Given the description of an element on the screen output the (x, y) to click on. 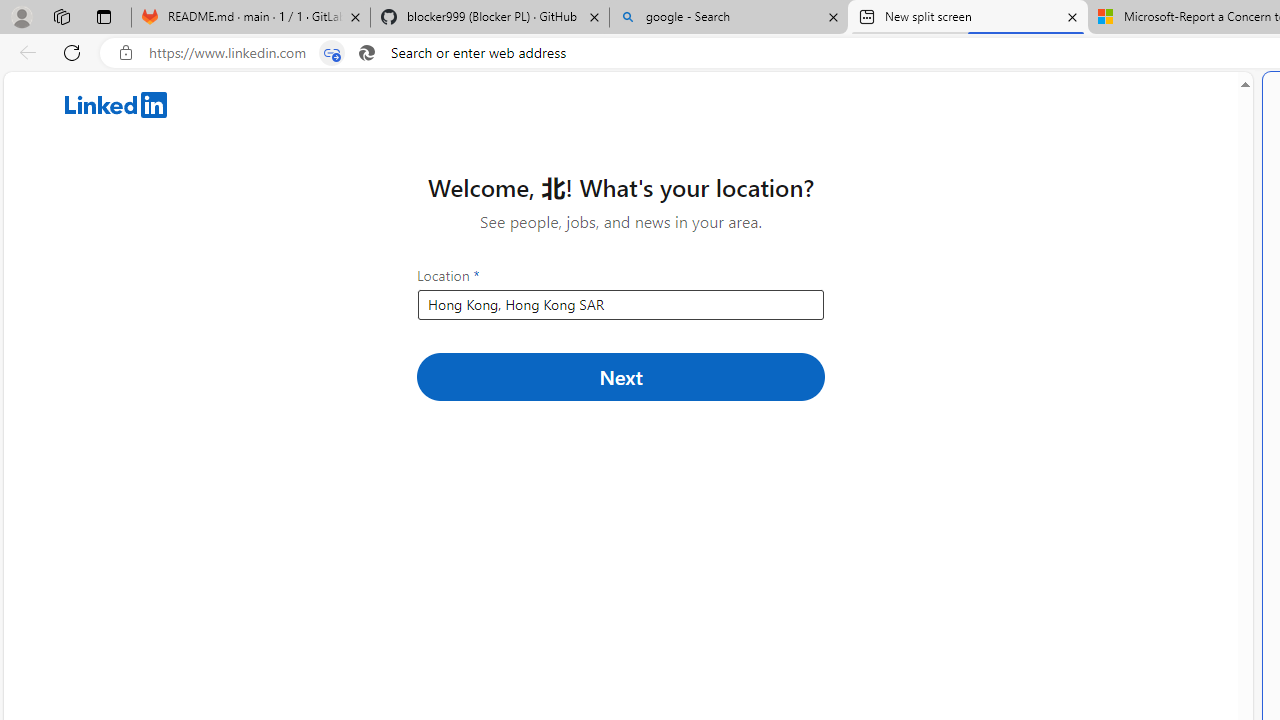
google - Search (729, 17)
New split screen (967, 17)
Tabs in split screen (331, 53)
Search icon (366, 53)
